Given the description of an element on the screen output the (x, y) to click on. 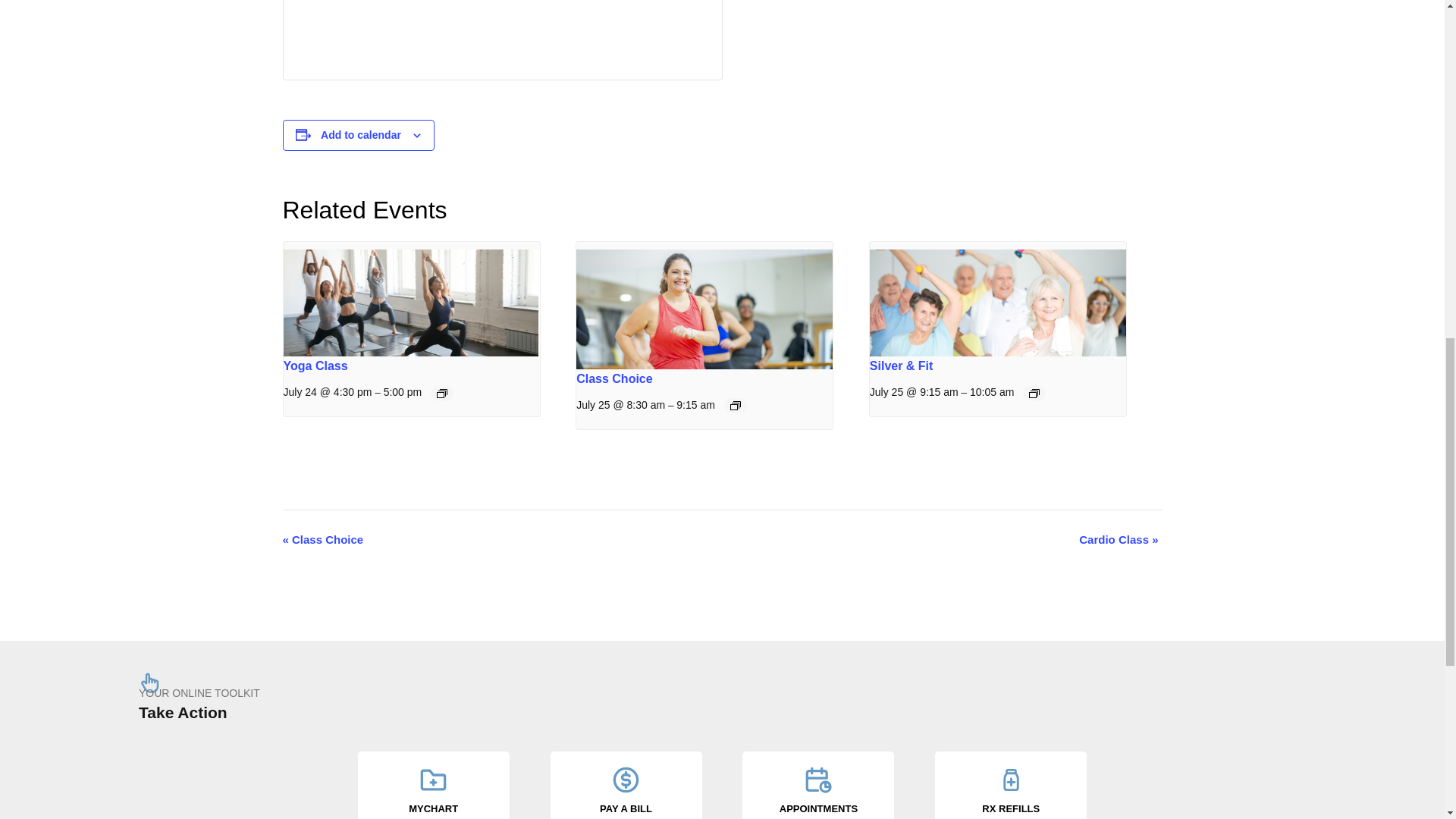
Event Series (1034, 393)
Google maps iframe displaying the address to Welia Center (603, 30)
Event Series (735, 405)
Event Series (441, 393)
